Given the description of an element on the screen output the (x, y) to click on. 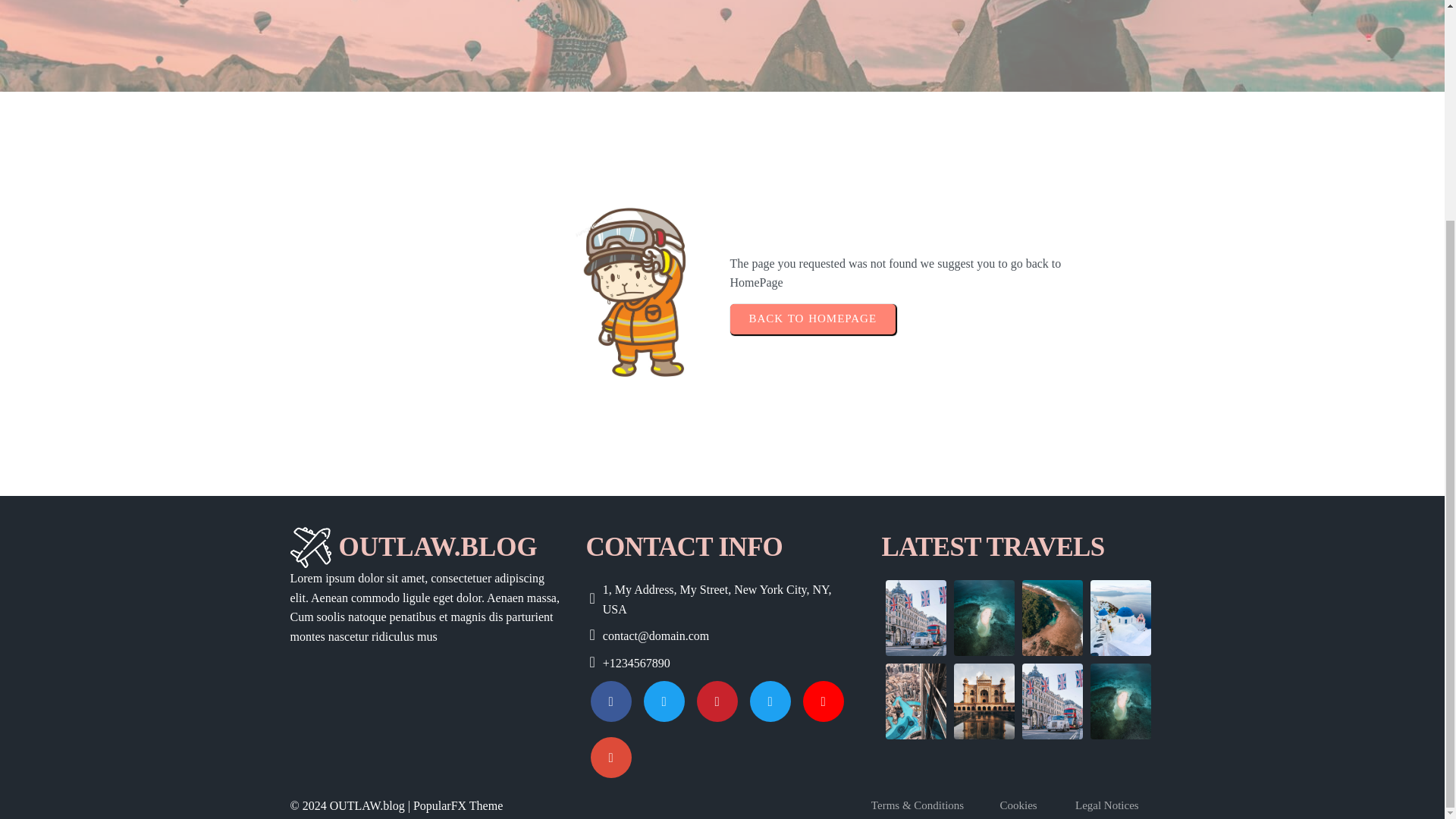
OUTLAW.BLOG (425, 547)
Legal Notices (1114, 805)
PopularFX Theme (457, 805)
Cookies (1026, 805)
logo-alt (309, 547)
BACK TO HOMEPAGE (812, 318)
